Given the description of an element on the screen output the (x, y) to click on. 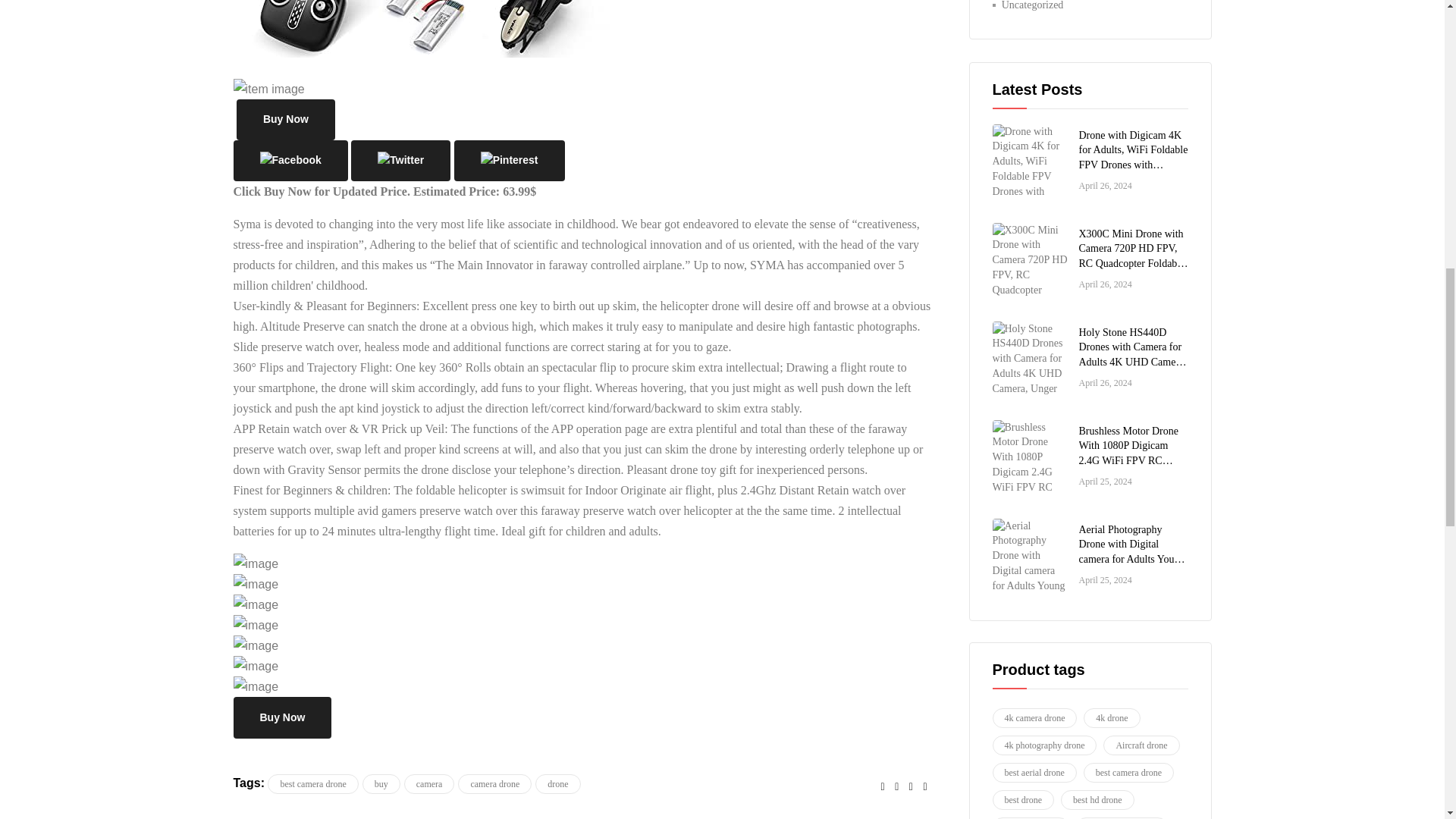
Pinterest (924, 785)
camera drone (494, 783)
Twitter (898, 785)
best camera drone (312, 783)
Share on Twitter (898, 785)
